Given the description of an element on the screen output the (x, y) to click on. 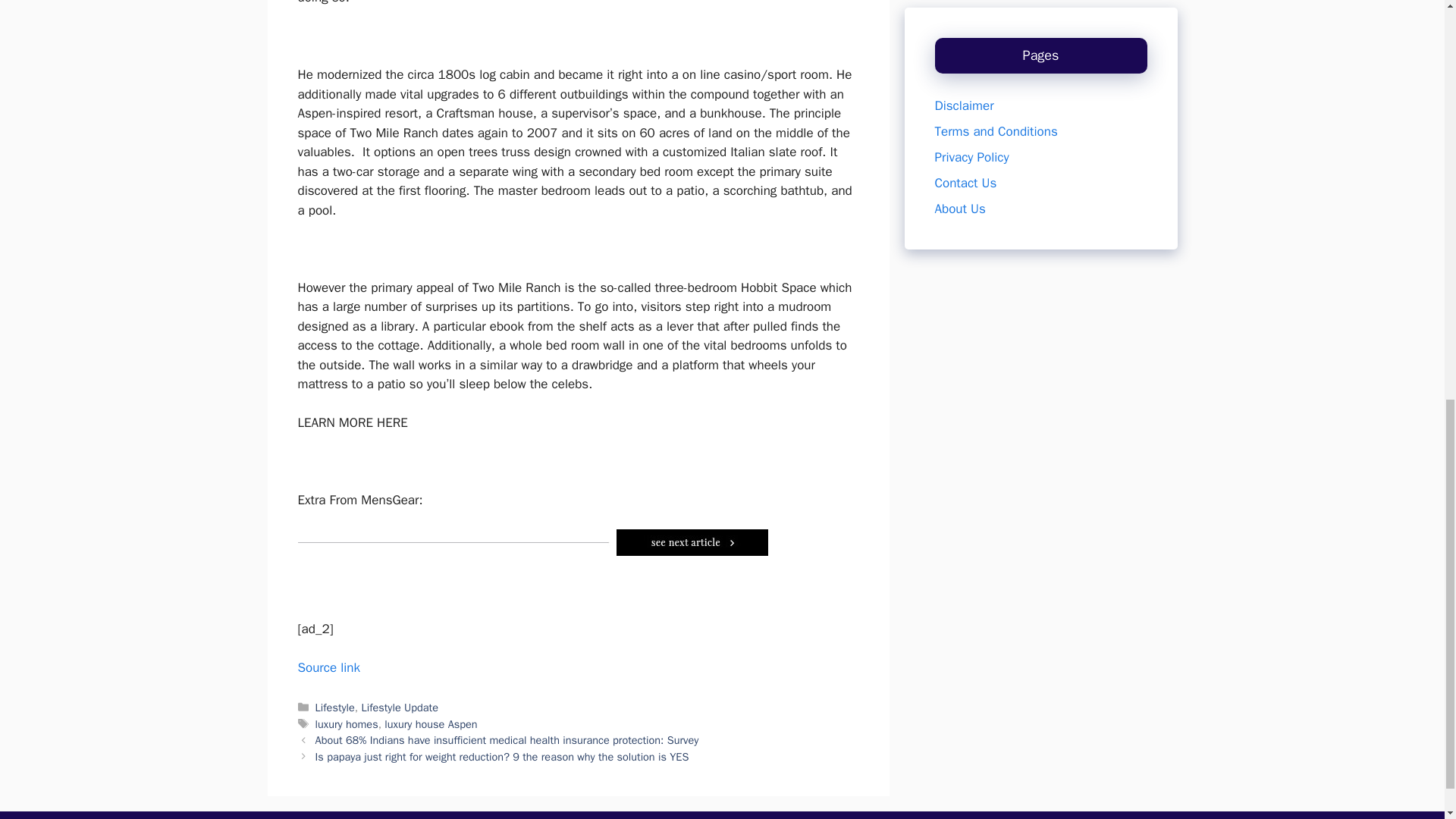
Lifestyle (335, 707)
Source link (328, 667)
Scroll back to top (1406, 720)
